Given the description of an element on the screen output the (x, y) to click on. 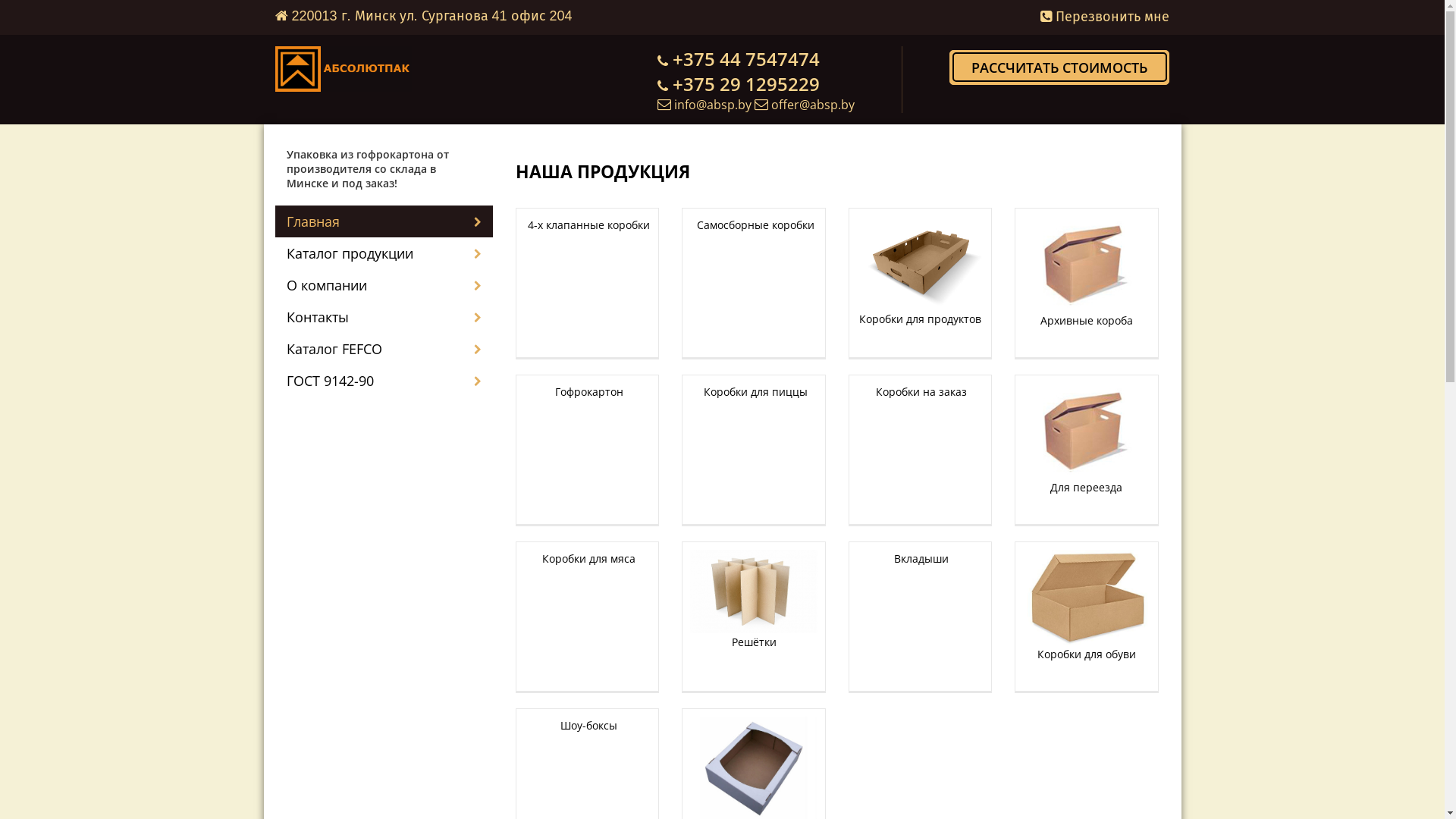
+375 29 1295229 Element type: text (745, 83)
offer@absp.by Element type: text (812, 104)
info@absp.by Element type: text (712, 104)
+375 44 7547474 Element type: text (745, 58)
